Given the description of an element on the screen output the (x, y) to click on. 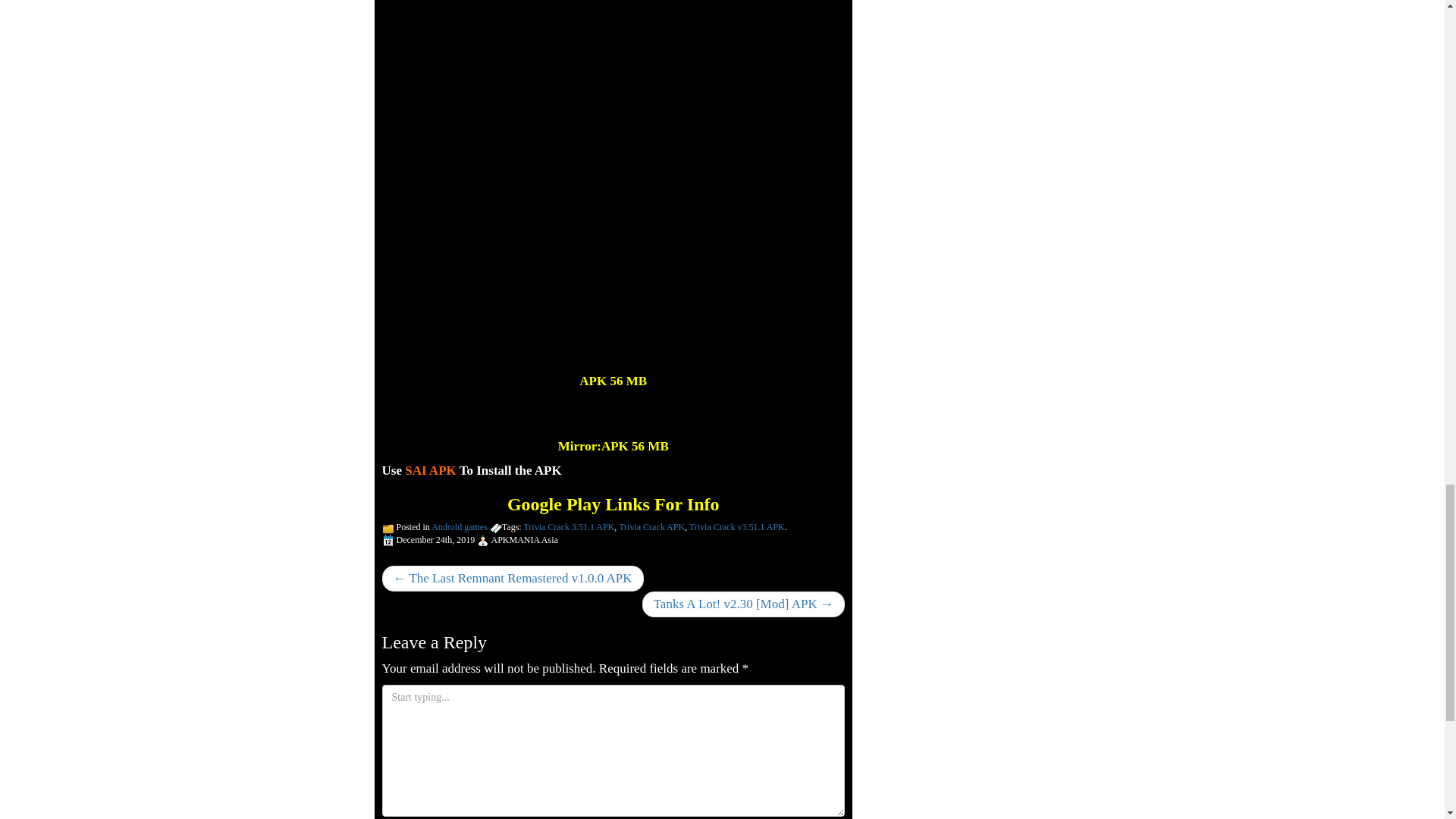
SAI APK (429, 470)
Trivia Crack 3.51.1 APK (568, 526)
Google Play Links For Info (612, 504)
Trivia Crack v3.51.1 APK (736, 526)
Trivia Crack APK (651, 526)
Android games (458, 526)
